Given the description of an element on the screen output the (x, y) to click on. 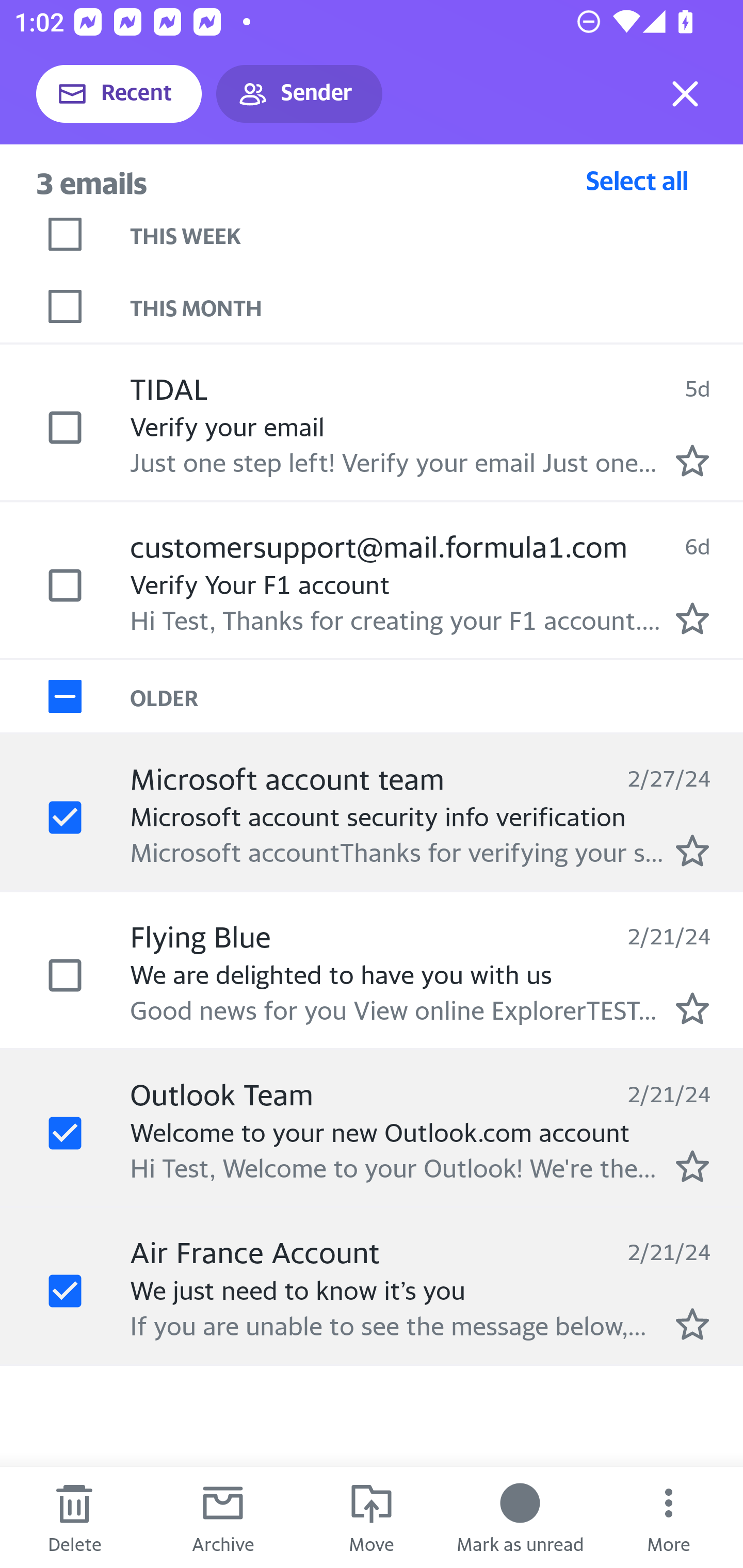
Sender (299, 93)
Exit selection mode (684, 93)
Select all (637, 180)
THIS MONTH (436, 306)
Mark as starred. (692, 460)
Mark as starred. (692, 618)
OLDER (436, 696)
Mark as starred. (692, 850)
Mark as starred. (692, 1008)
Mark as starred. (692, 1165)
Mark as starred. (692, 1324)
Delete (74, 1517)
Archive (222, 1517)
Move (371, 1517)
Mark as unread (519, 1517)
More (668, 1517)
